Given the description of an element on the screen output the (x, y) to click on. 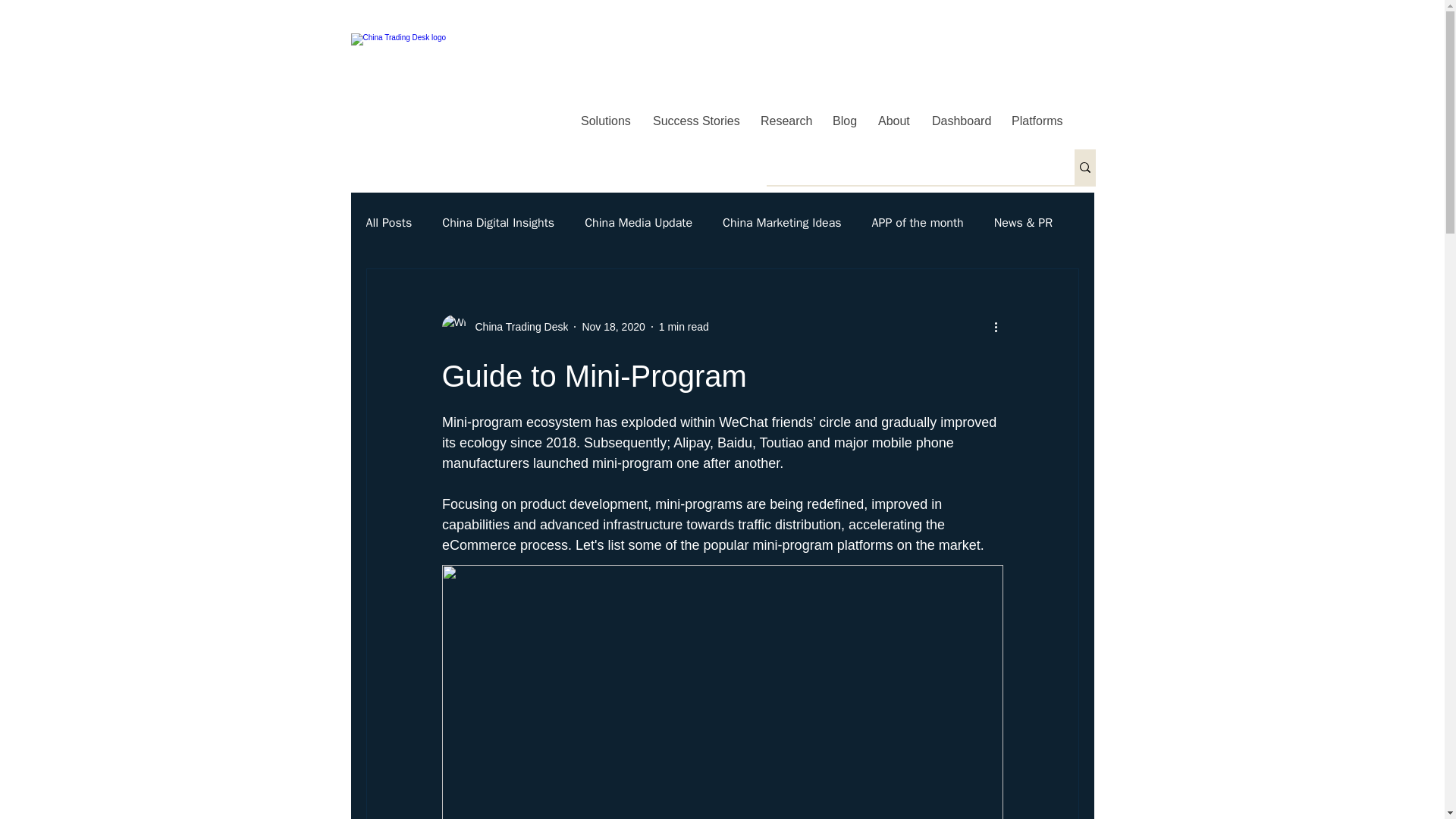
Success Stories (695, 121)
China Marketing Ideas (781, 222)
Nov 18, 2020 (612, 326)
Logo (456, 84)
Solutions (605, 121)
China Trading Desk (516, 326)
1 min read (684, 326)
Blog (843, 121)
All Posts (388, 222)
About (893, 121)
China Media Update (639, 222)
China Digital Insights (498, 222)
APP of the month (917, 222)
